Given the description of an element on the screen output the (x, y) to click on. 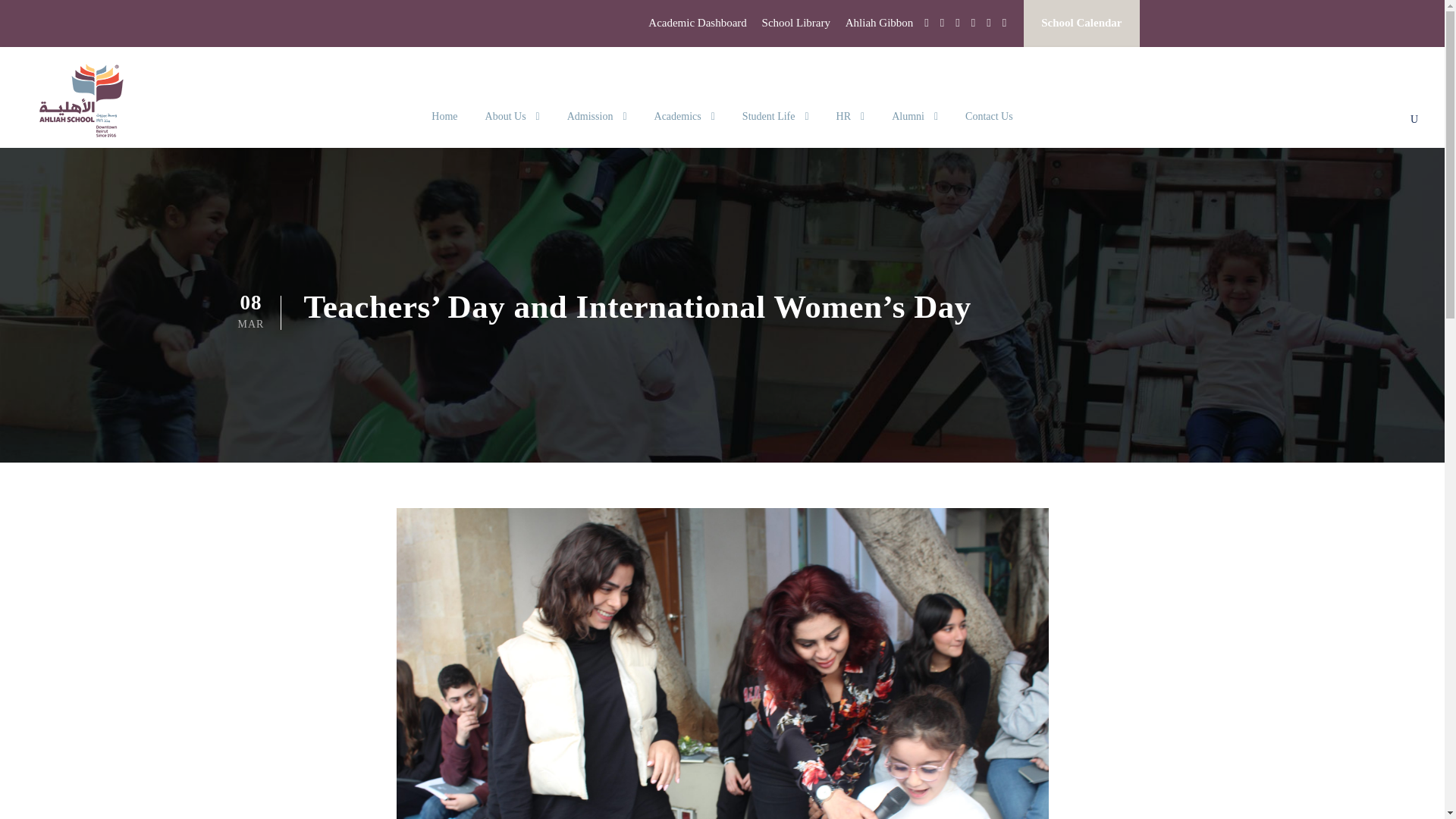
linkedin (957, 22)
facebook (941, 22)
youtube (988, 22)
Home (443, 127)
Admission (597, 127)
School Library (795, 29)
School Calendar (1080, 23)
Academics (683, 127)
email (926, 22)
Academic Dashboard (696, 29)
About Us (512, 127)
twitter (973, 22)
Ahliah Gibbon (879, 29)
